Given the description of an element on the screen output the (x, y) to click on. 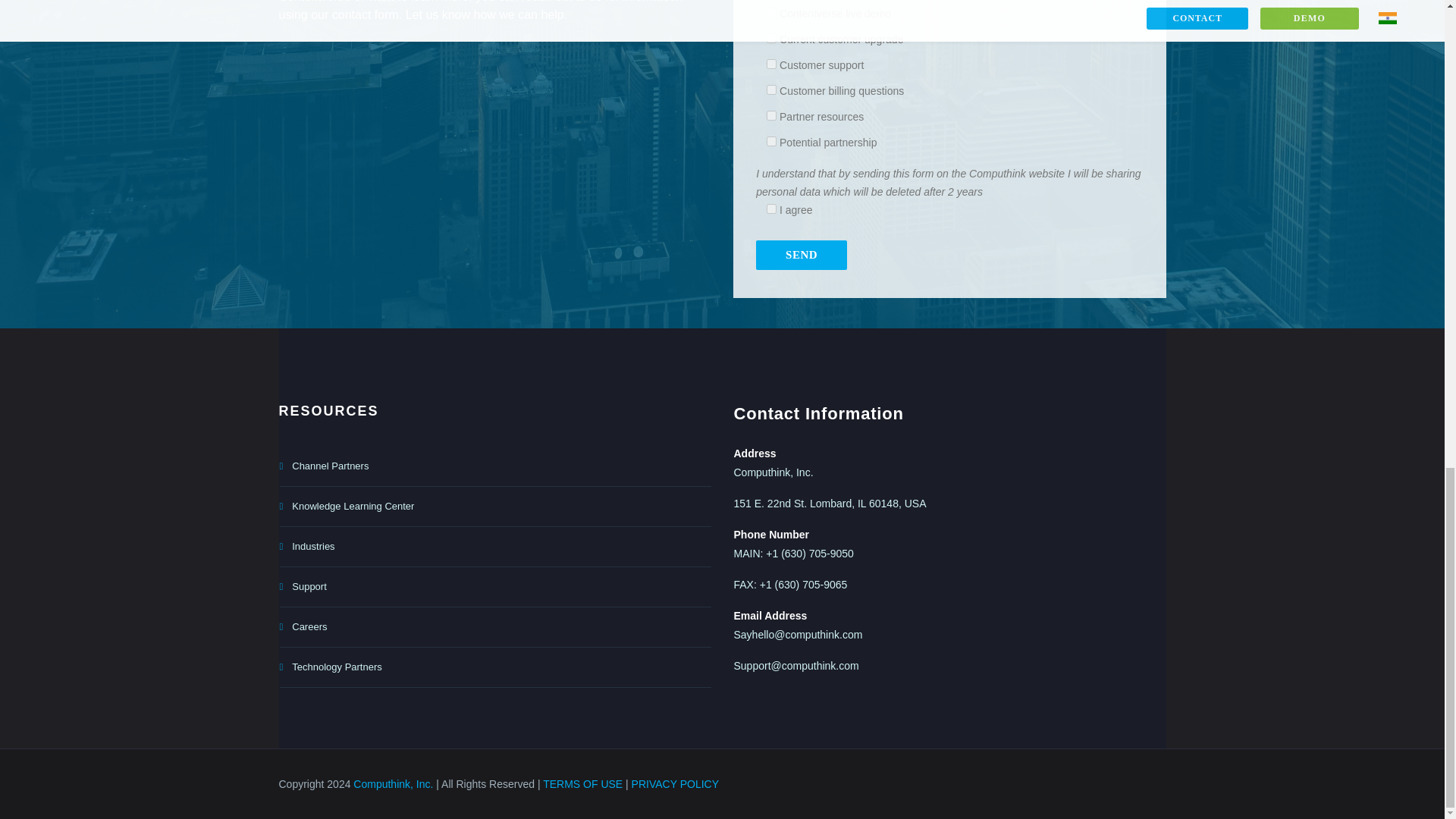
Computhink, Inc. (392, 784)
PRIVACY POLICY (675, 784)
Channel Partners (494, 466)
TERMS OF USE (583, 784)
Potential partnership (771, 141)
SEND (801, 255)
Contentverse live demo (771, 12)
SEND (801, 255)
I agree (771, 208)
Customer support (771, 63)
